Given the description of an element on the screen output the (x, y) to click on. 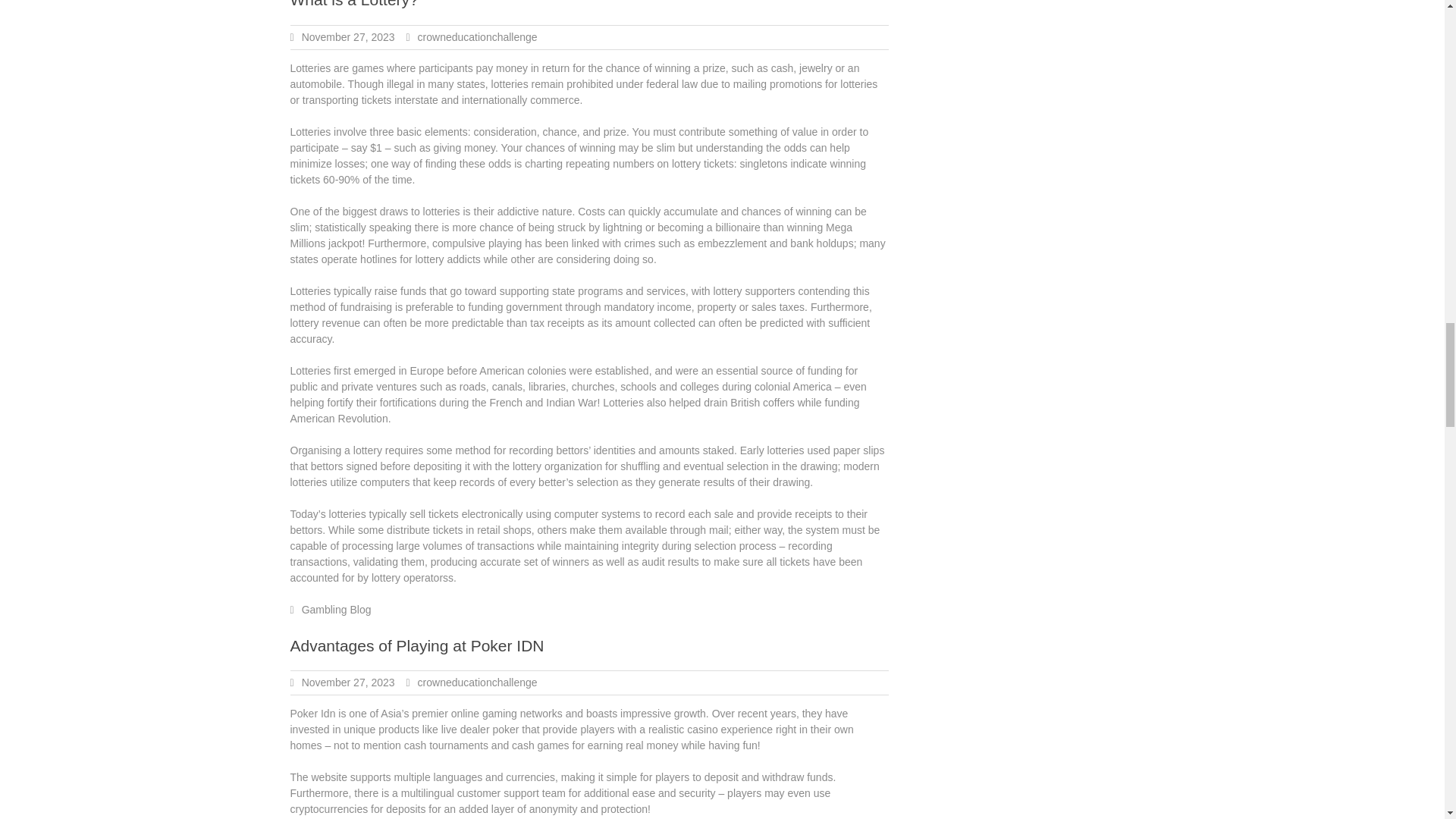
November 27, 2023 (347, 682)
Gambling Blog (336, 609)
Advantages of Playing at Poker IDN (416, 645)
crowneducationchallenge (477, 682)
November 27, 2023 (347, 37)
crowneducationchallenge (477, 37)
What is a Lottery? (353, 4)
